Given the description of an element on the screen output the (x, y) to click on. 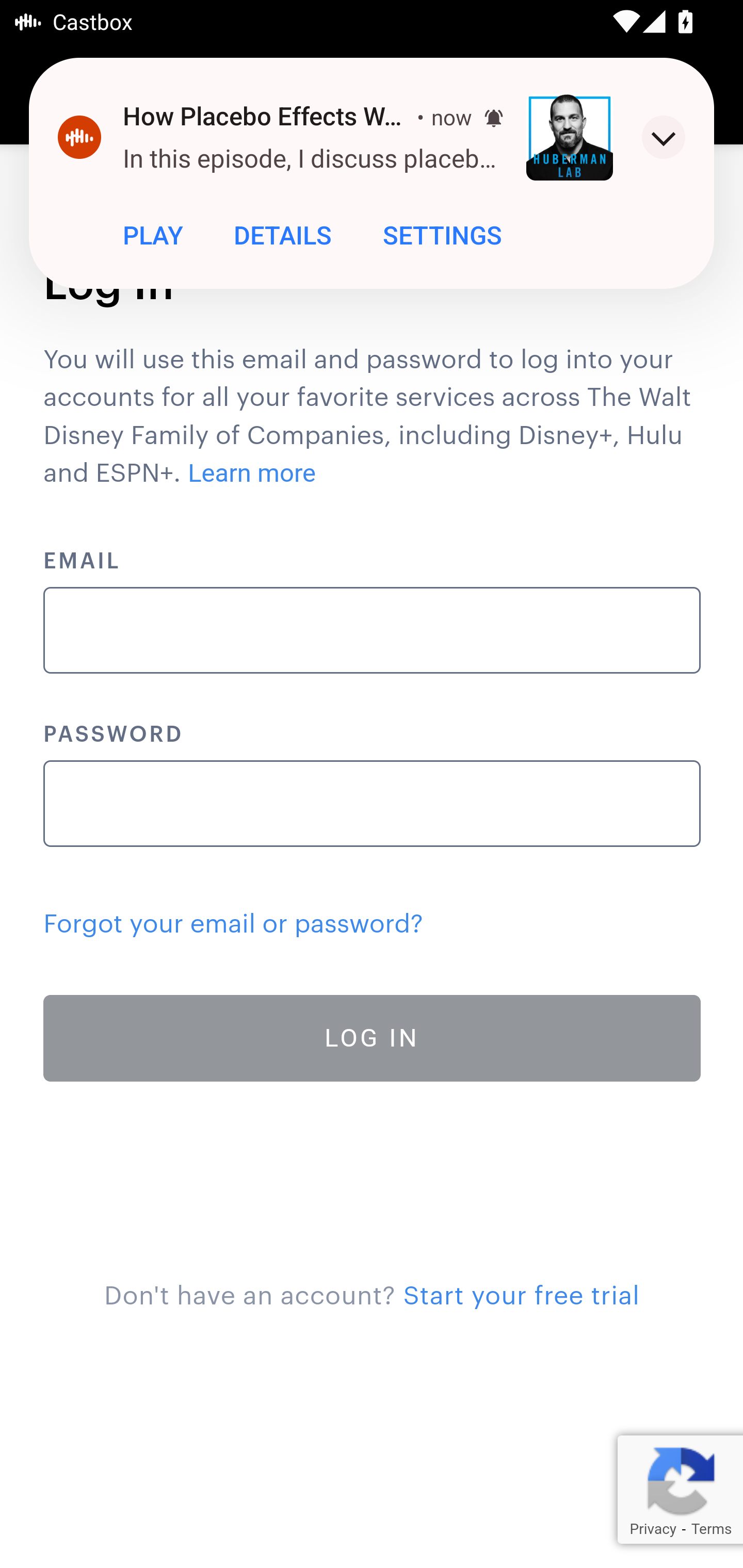
Learn more (252, 473)
Forgot your email or password? (233, 924)
LOG IN (372, 1037)
Start your free trial (521, 1295)
Privacy (652, 1528)
Terms (711, 1528)
